Given the description of an element on the screen output the (x, y) to click on. 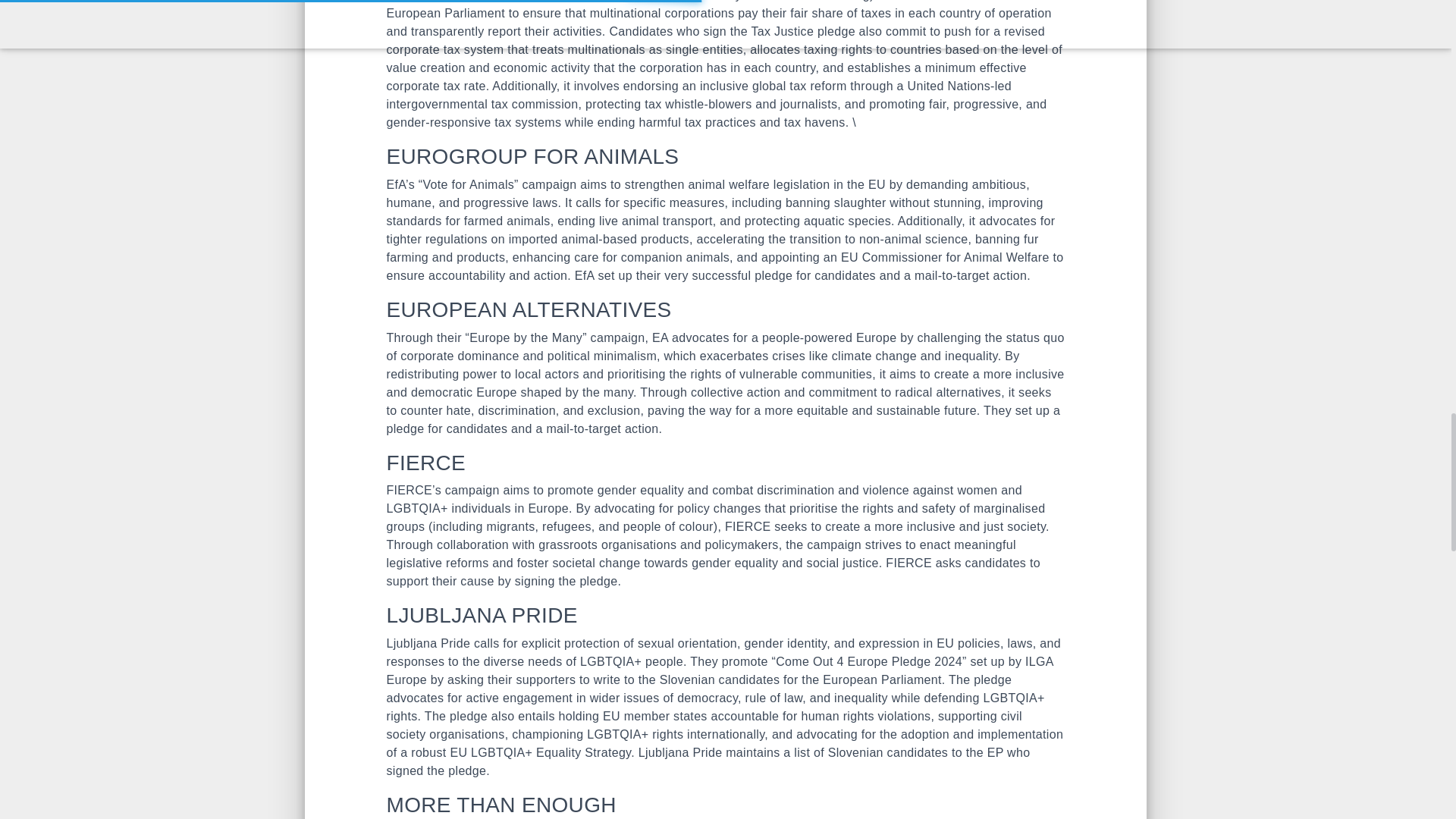
mail-to-target (583, 428)
supporters to write (568, 679)
pledge (773, 275)
pledge (598, 581)
list (801, 752)
mail-to-target (953, 275)
pledge (836, 31)
pledge (406, 428)
